Given the description of an element on the screen output the (x, y) to click on. 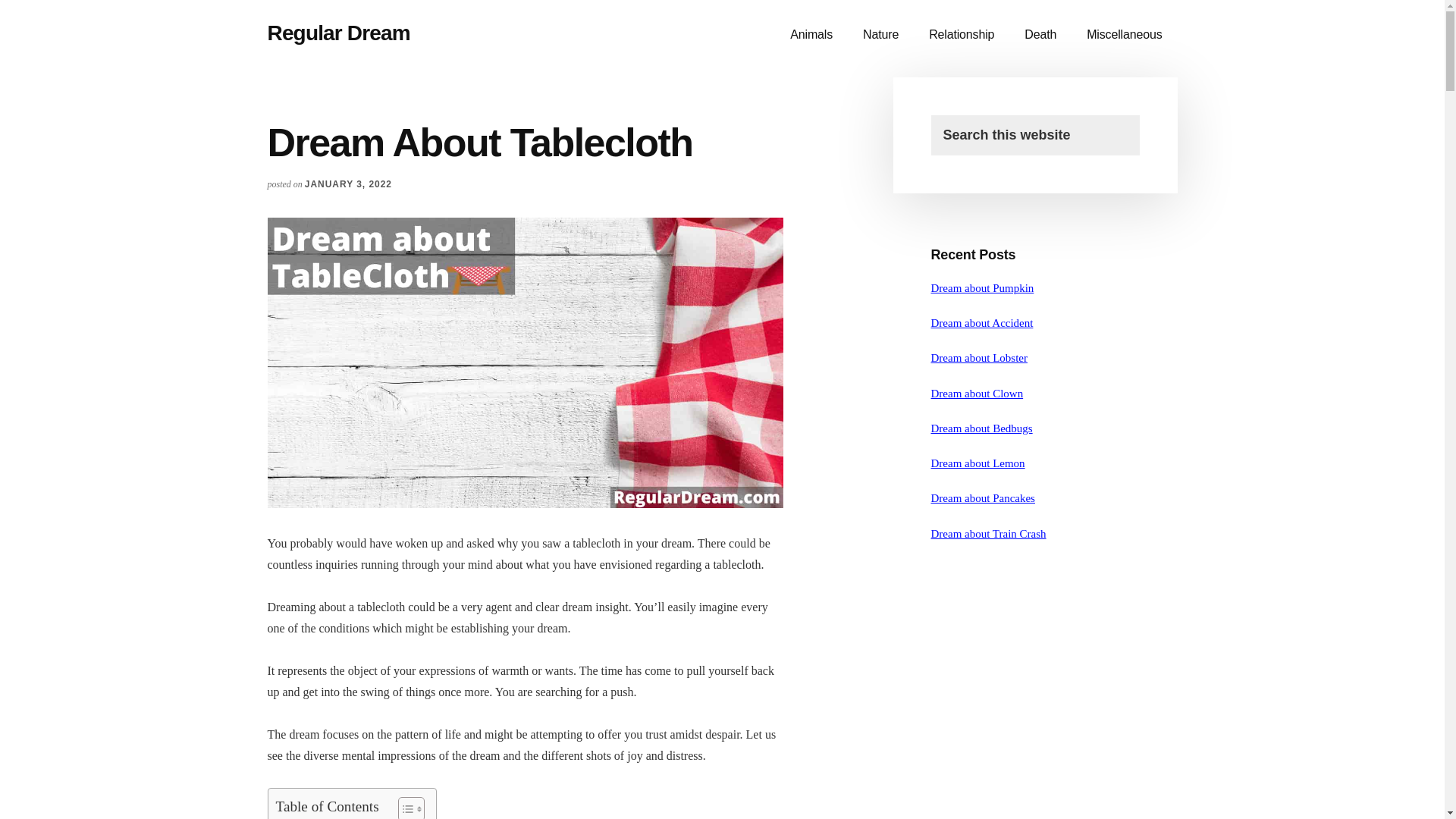
Animals (810, 34)
Regular Dream (337, 33)
